Given the description of an element on the screen output the (x, y) to click on. 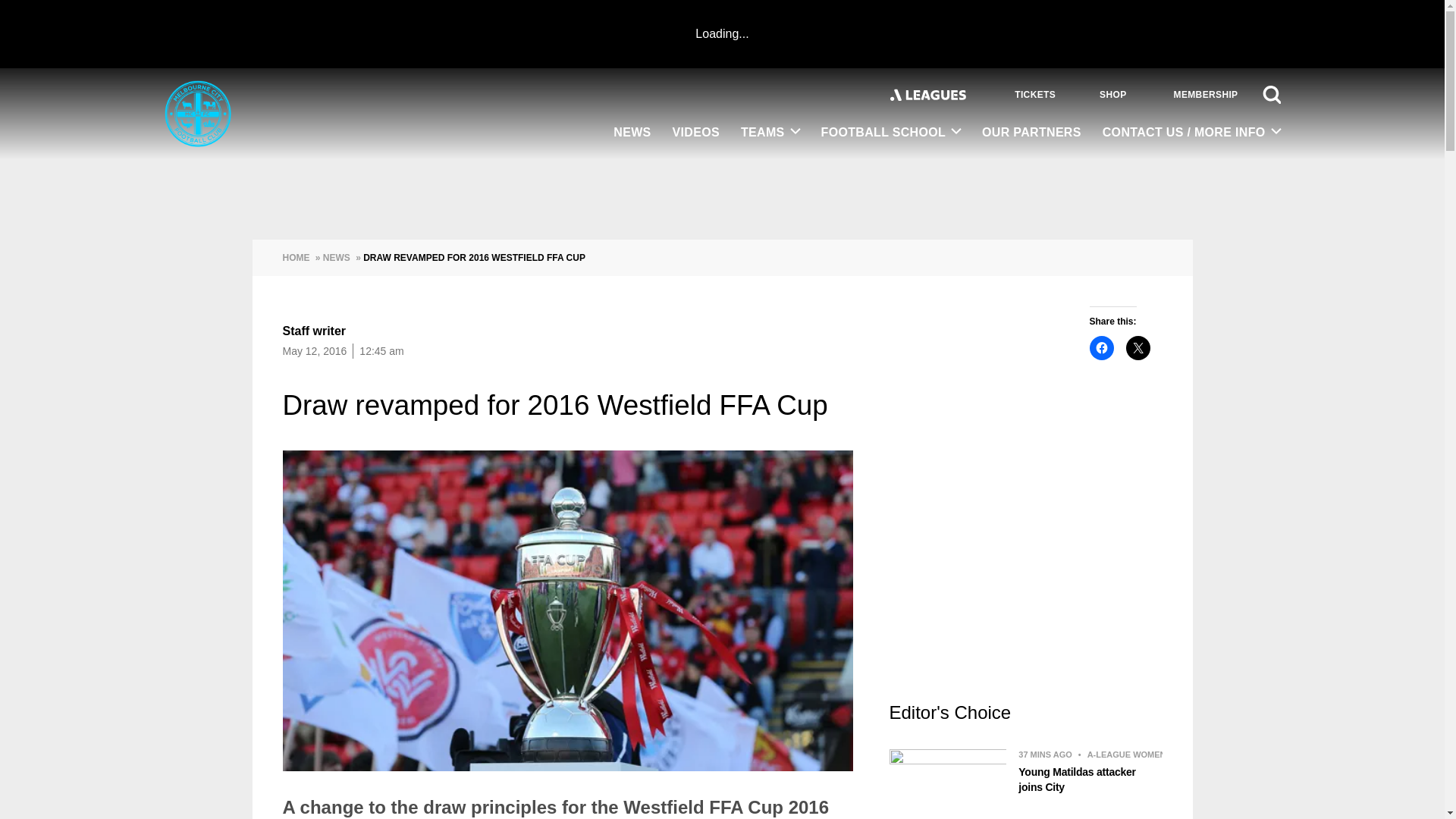
VIDEOS (696, 133)
FOOTBALL SCHOOL (891, 132)
TEAMS (770, 132)
NEWS (631, 133)
OUR PARTNERS (1031, 133)
Click to share on Facebook (1101, 347)
Click to share on X (1137, 347)
